Given the description of an element on the screen output the (x, y) to click on. 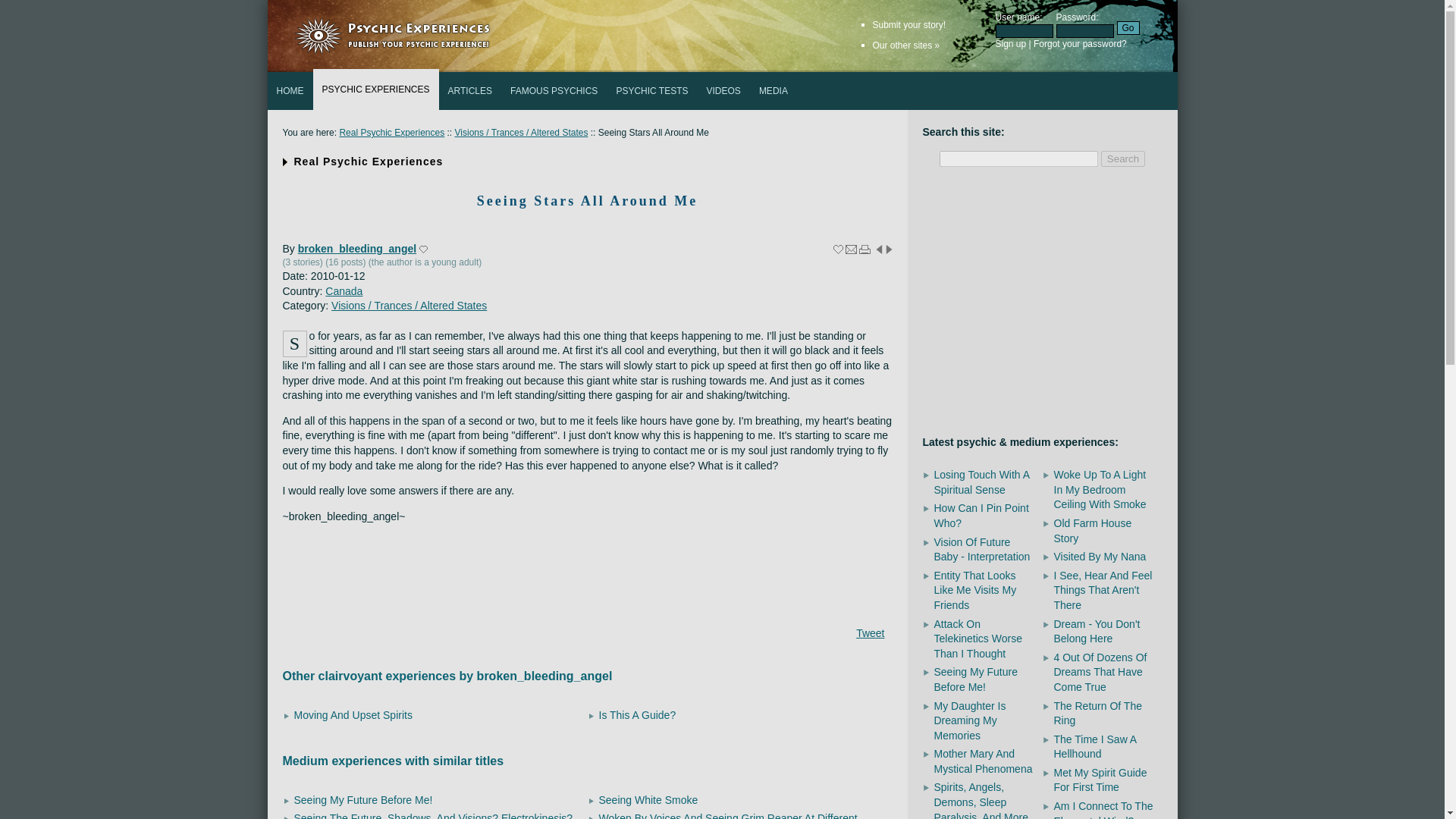
Is This A Guide? (637, 715)
Seeing My Future Before Me! (363, 799)
Print this story (864, 248)
Go (1127, 28)
Send this story to a friend (851, 248)
Sign up (1010, 43)
Seeing The Future, Shadows, And Visions? Electrokinesis? (433, 815)
HOME (289, 90)
Advertisement (1041, 303)
Real Psychic Experiences (391, 132)
